Given the description of an element on the screen output the (x, y) to click on. 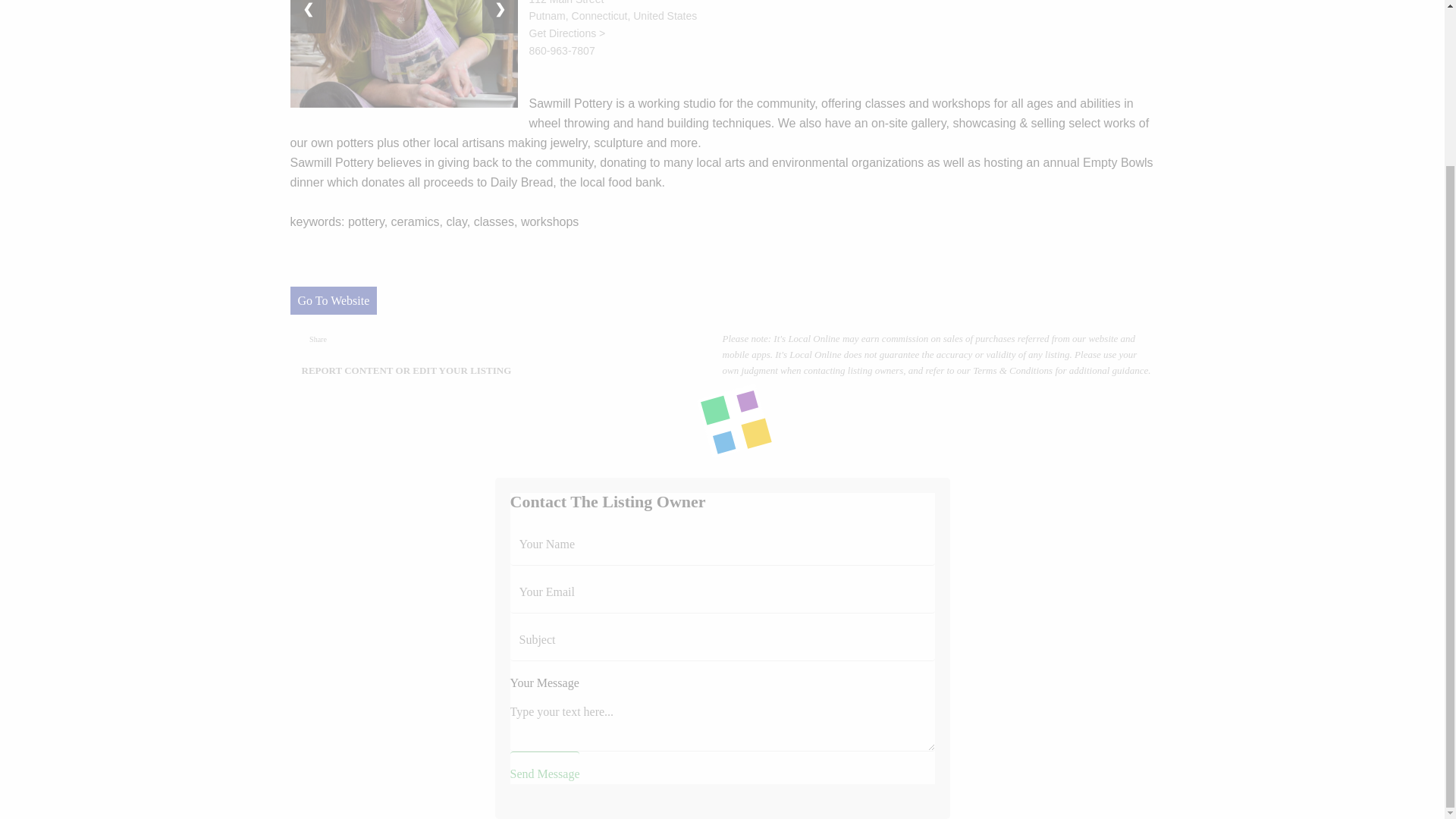
Send Message (544, 766)
REPORT CONTENT OR EDIT YOUR LISTING (406, 369)
Go To Website (333, 300)
Send Message (544, 766)
Share (317, 339)
